Given the description of an element on the screen output the (x, y) to click on. 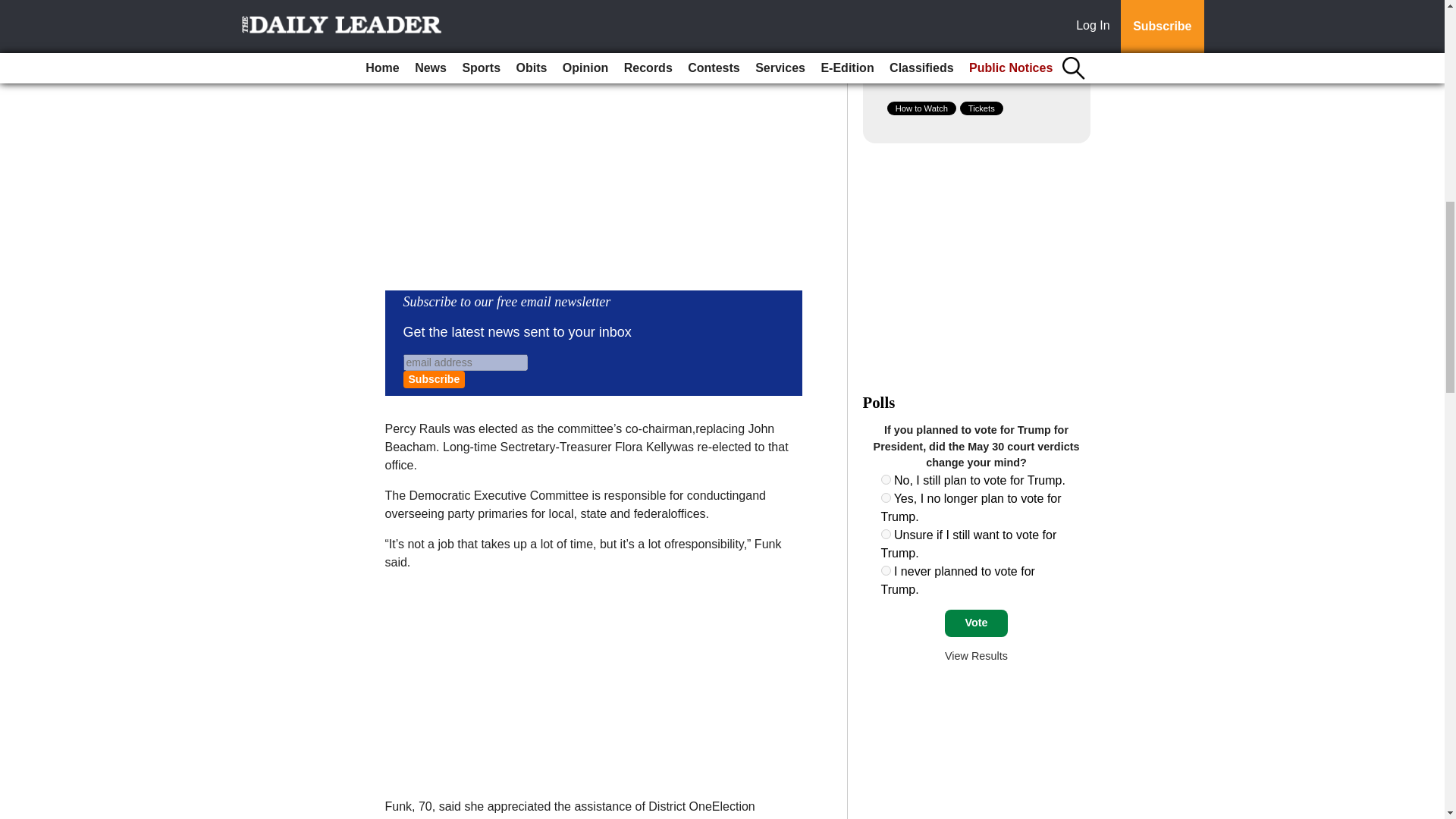
How to Watch (921, 108)
Subscribe (434, 379)
846 (885, 479)
849 (885, 570)
848 (885, 533)
   Vote    (975, 623)
847 (885, 497)
Subscribe (434, 379)
Tickets (981, 108)
View Results Of This Poll (975, 654)
